Given the description of an element on the screen output the (x, y) to click on. 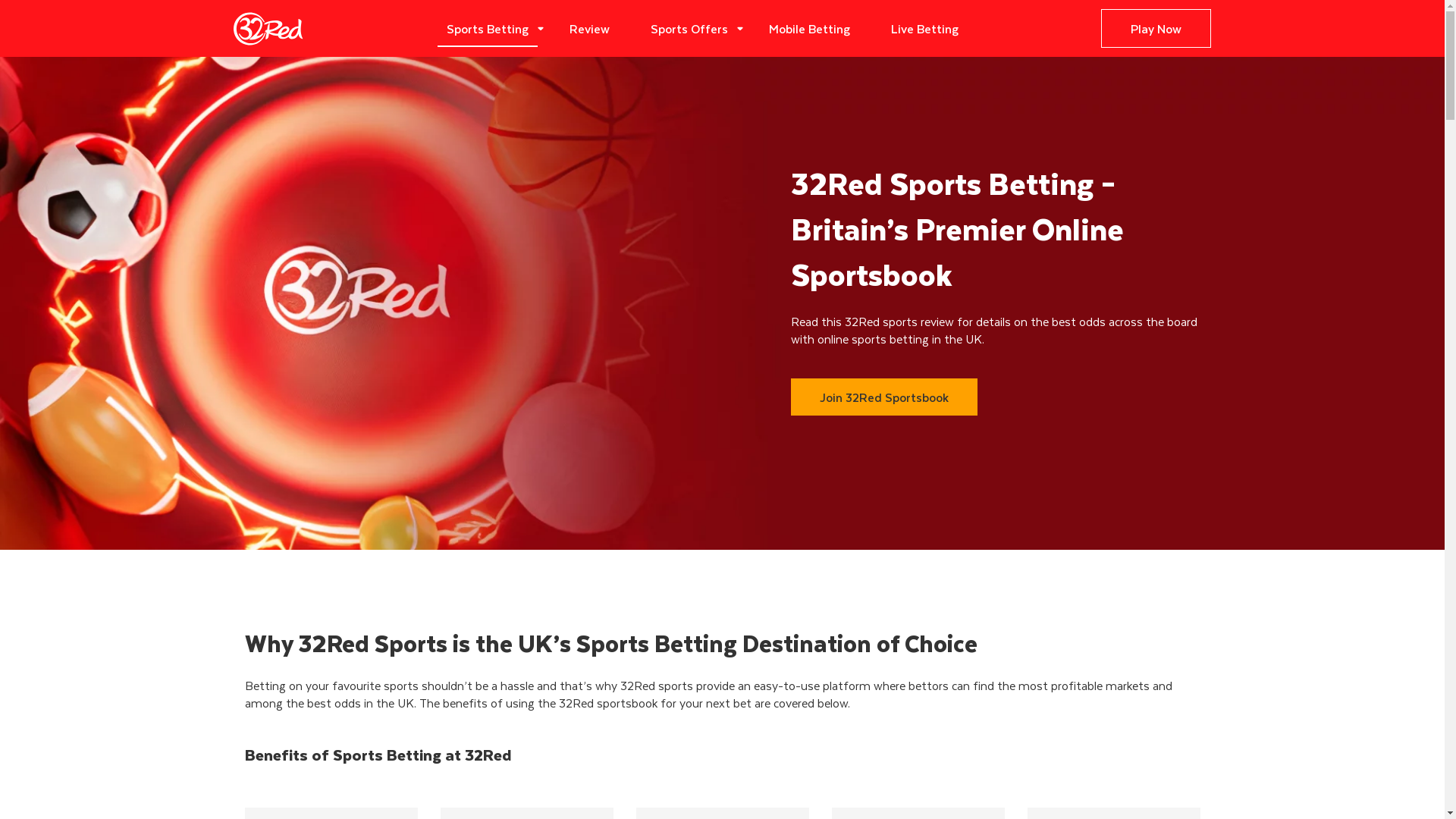
Play Now Element type: text (1156, 28)
Sports Betting Element type: text (487, 28)
Join 32Red Sportsbook Element type: text (883, 396)
Live Betting Element type: text (924, 28)
Review Element type: text (589, 28)
Mobile Betting Element type: text (809, 28)
Sports Offers Element type: text (689, 28)
